Given the description of an element on the screen output the (x, y) to click on. 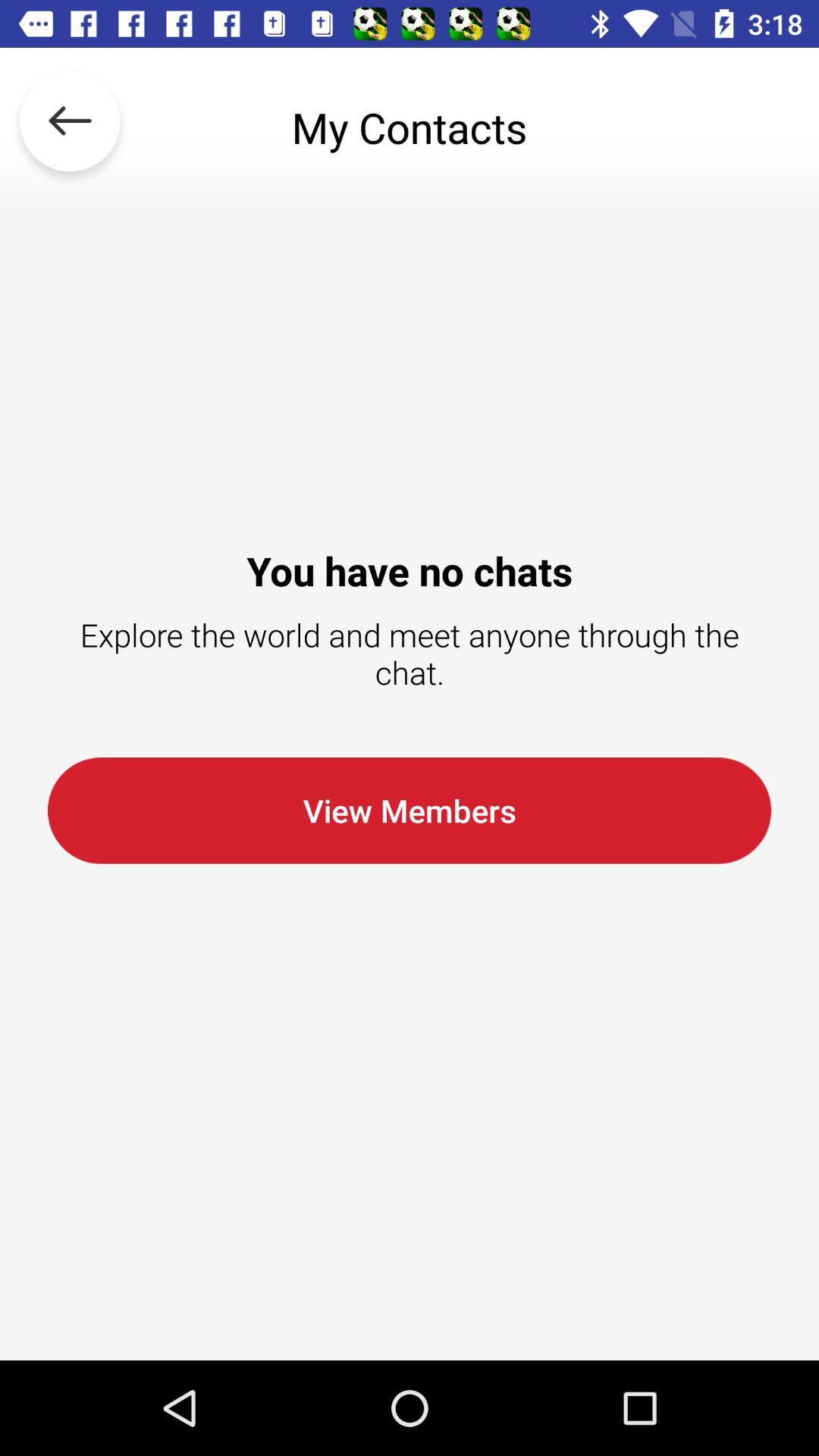
tap icon next to the my contacts icon (69, 127)
